Given the description of an element on the screen output the (x, y) to click on. 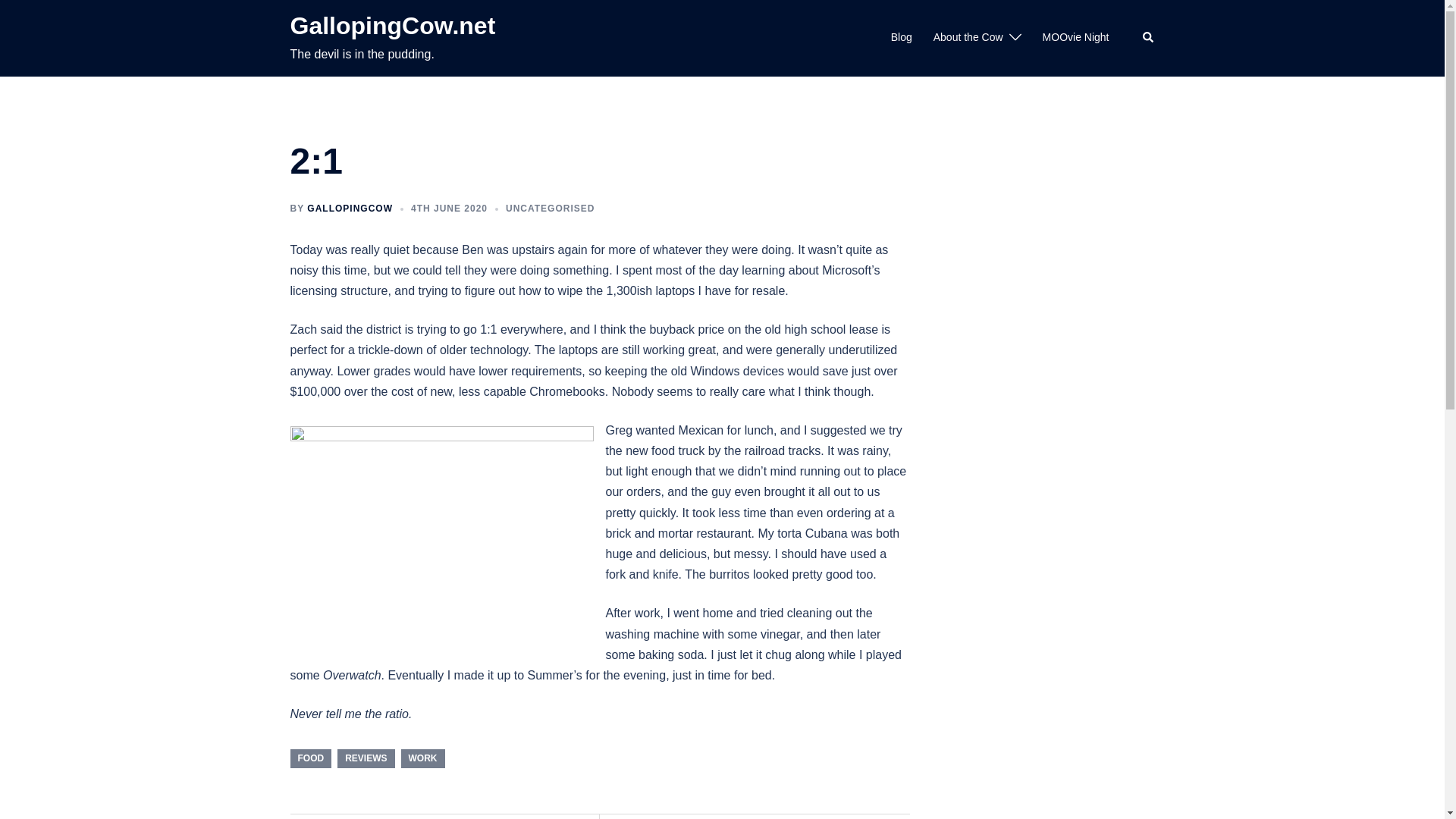
GallopingCow.net (392, 25)
About the Cow (968, 37)
WORK (423, 758)
Blog (901, 37)
GALLOPINGCOW (350, 208)
REVIEWS (365, 758)
Search (1147, 37)
MOOvie Night (1075, 37)
UNCATEGORISED (549, 208)
4TH JUNE 2020 (448, 208)
FOOD (310, 758)
